Given the description of an element on the screen output the (x, y) to click on. 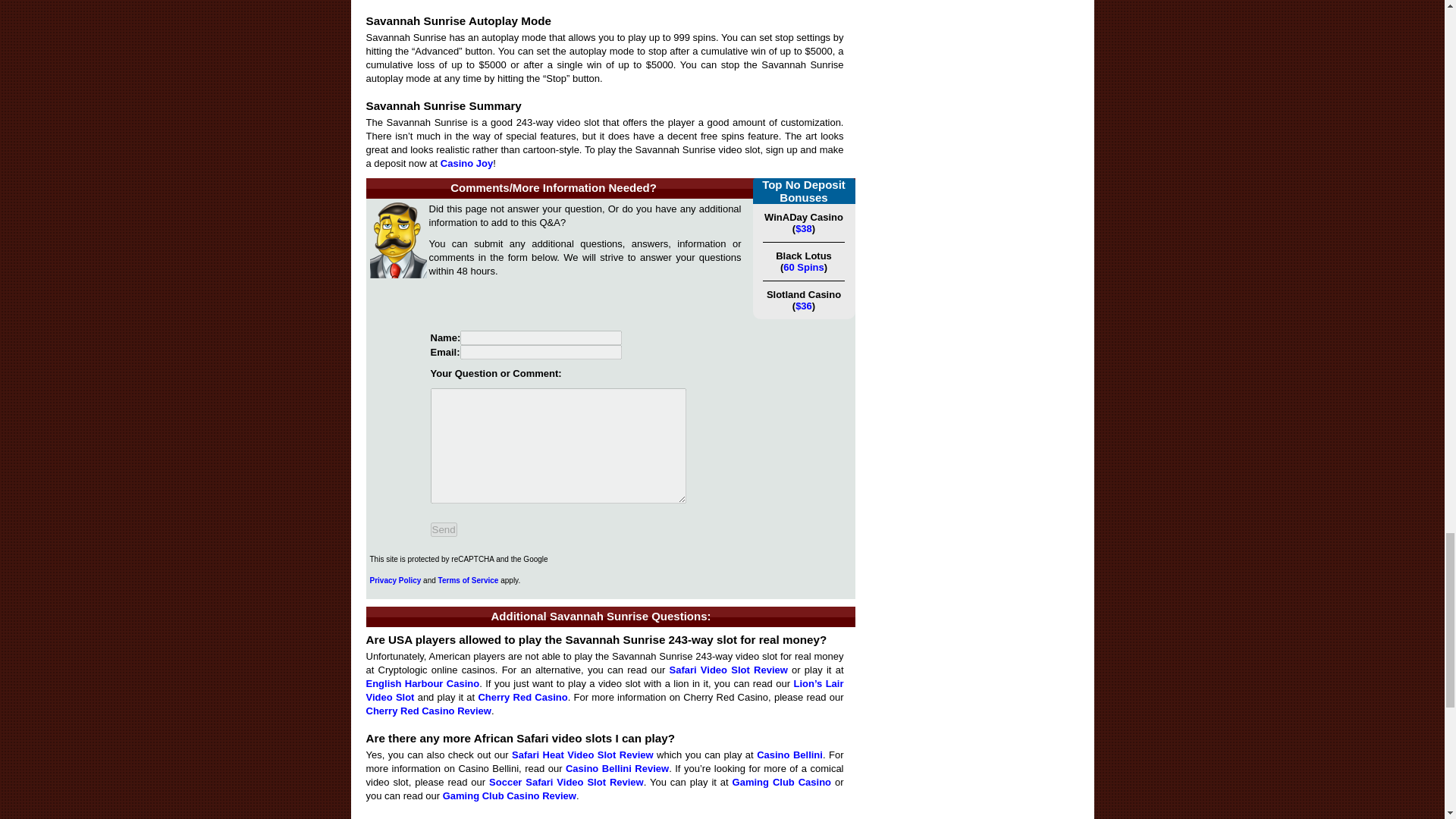
Send (443, 529)
